Given the description of an element on the screen output the (x, y) to click on. 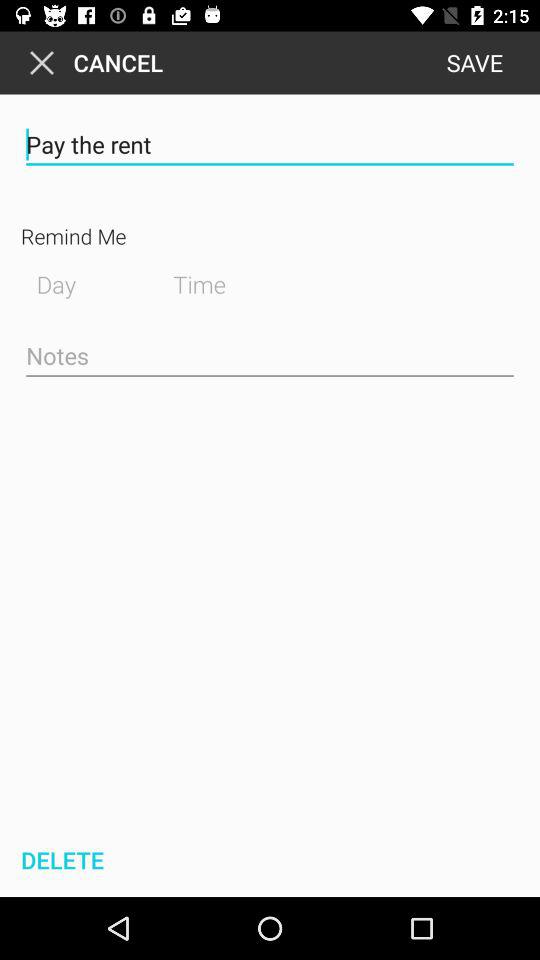
turn on the delete item (60, 859)
